Given the description of an element on the screen output the (x, y) to click on. 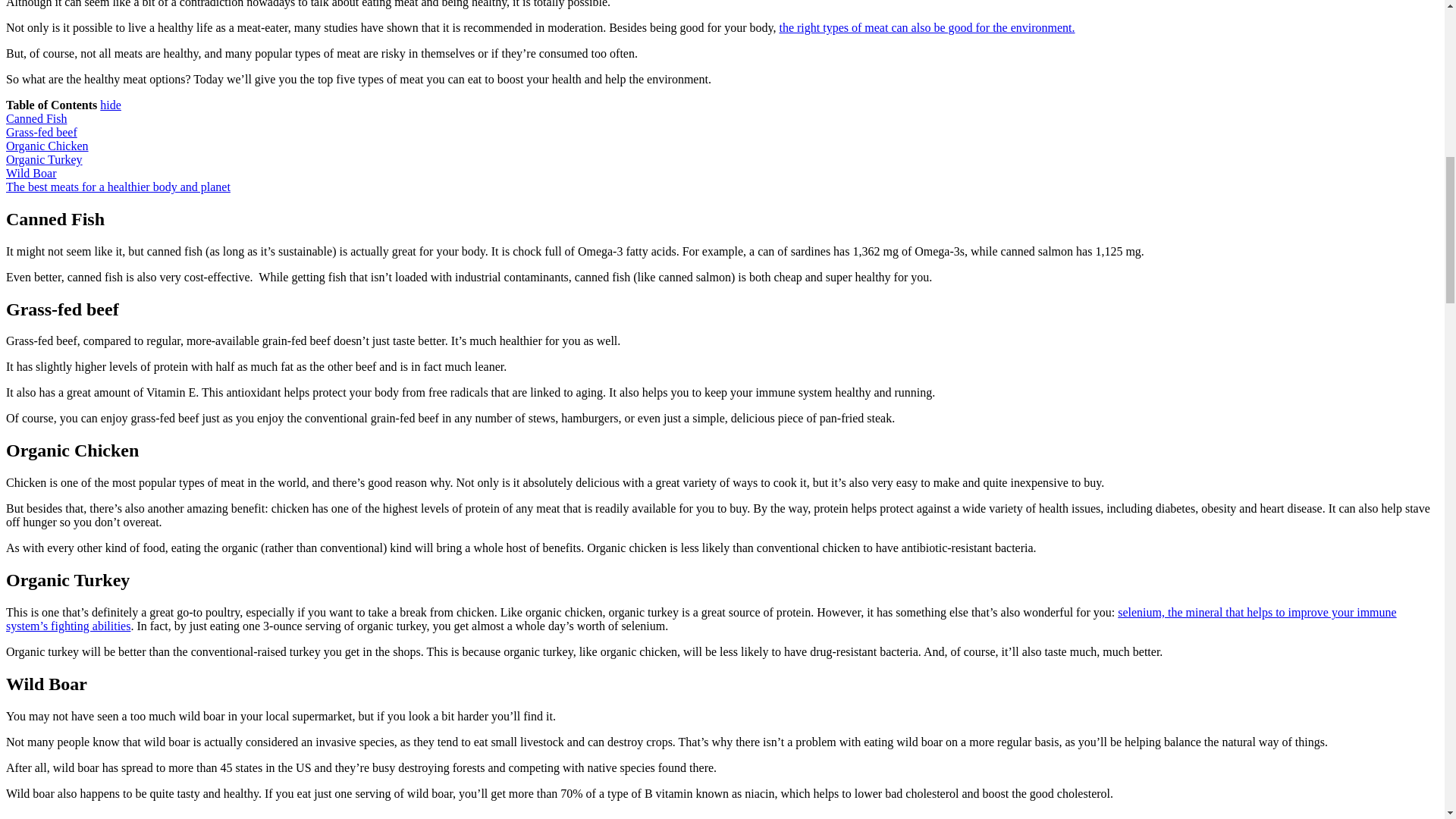
hide (110, 104)
Grass-fed beef (41, 132)
Organic Chicken (46, 145)
Wild Boar (30, 173)
Organic Turkey (43, 159)
The best meats for a healthier body and planet (117, 186)
Canned Fish (35, 118)
